Given the description of an element on the screen output the (x, y) to click on. 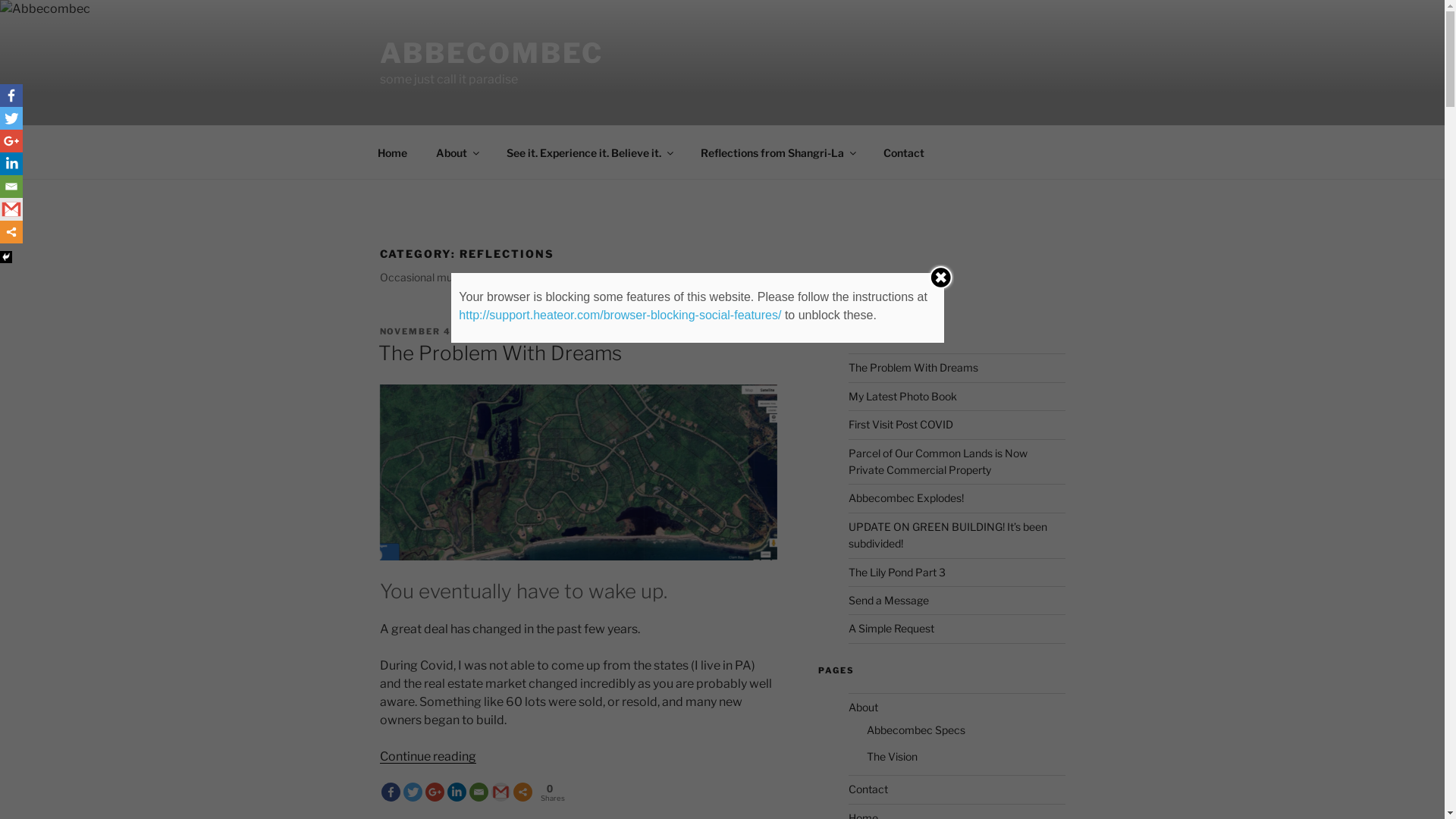
About Element type: text (863, 706)
The Problem With Dreams Element type: text (499, 352)
NOVEMBER 4, 2023 Element type: text (432, 331)
Google plus Element type: hover (11, 140)
More Element type: hover (11, 231)
First Visit Post COVID Element type: text (900, 423)
Linkedin Element type: hover (11, 163)
More Element type: hover (521, 791)
Abbecombec Explodes! Element type: text (905, 497)
Google Gmail Element type: hover (11, 208)
The Vision Element type: text (891, 755)
Twitter Element type: hover (11, 117)
http://support.heateor.com/browser-blocking-social-features/ Element type: text (619, 314)
Home Element type: text (392, 151)
Email Element type: hover (11, 186)
My Latest Photo Book Element type: text (902, 395)
Abbecombec Specs Element type: text (915, 729)
ABBECOMBEC Element type: text (491, 52)
Hide Element type: hover (6, 257)
Email Element type: hover (477, 791)
The Lily Pond Part 3 Element type: text (896, 571)
Contact Element type: text (868, 788)
Twitter Element type: hover (412, 791)
Reflections from Shangri-La Element type: text (777, 151)
Linkedin Element type: hover (456, 791)
Google Gmail Element type: hover (500, 791)
A Simple Request Element type: text (891, 627)
Facebook Element type: hover (11, 95)
About Element type: text (457, 151)
The Problem With Dreams Element type: text (913, 366)
Google plus Element type: hover (433, 791)
Send a Message Element type: text (888, 599)
Contact Element type: text (904, 151)
See it. Experience it. Believe it. Element type: text (588, 151)
Facebook Element type: hover (389, 791)
